Given the description of an element on the screen output the (x, y) to click on. 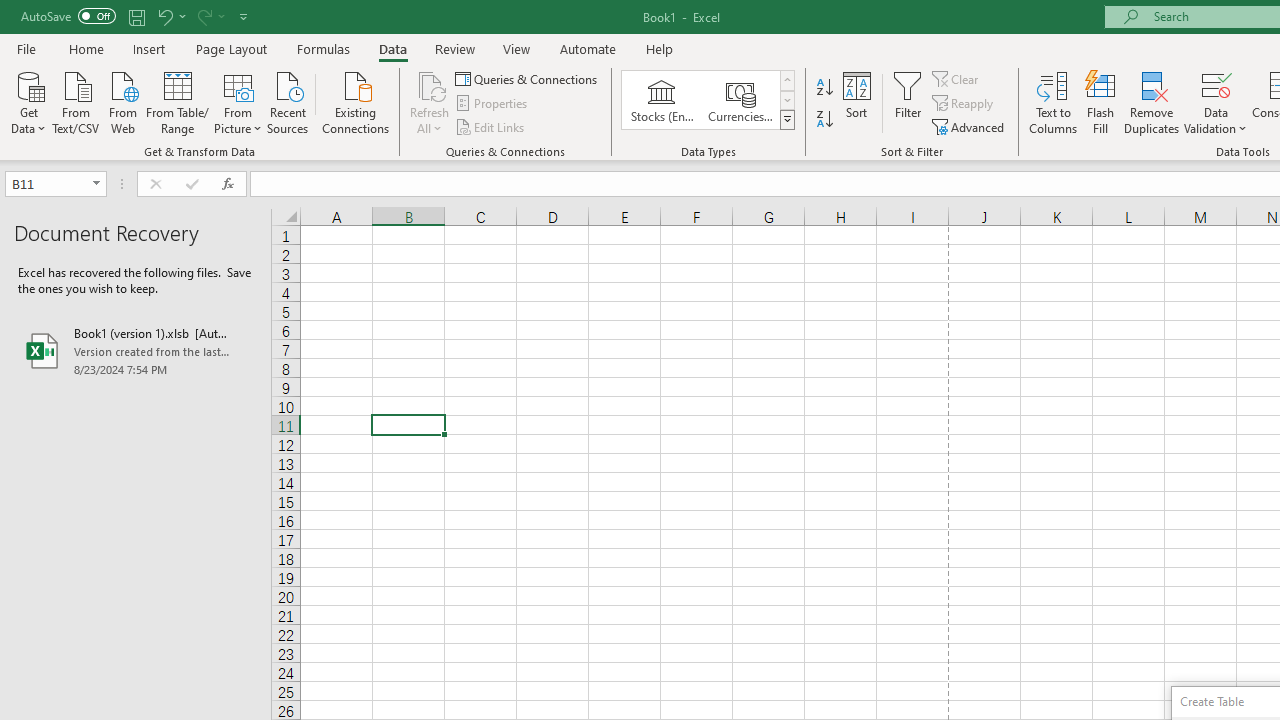
Clear (957, 78)
Data Types (786, 120)
Refresh All (429, 102)
From Text/CSV (75, 101)
Row up (786, 79)
AutomationID: ConvertToLinkedEntity (708, 99)
Remove Duplicates (1151, 102)
Currencies (English) (740, 100)
Filter (908, 102)
